Given the description of an element on the screen output the (x, y) to click on. 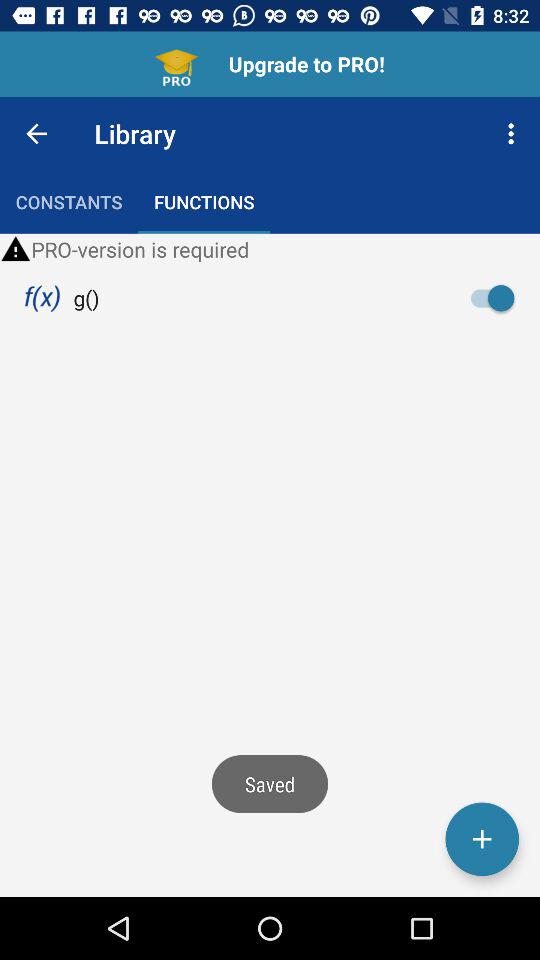
tap the item to the left of the library item (36, 133)
